Given the description of an element on the screen output the (x, y) to click on. 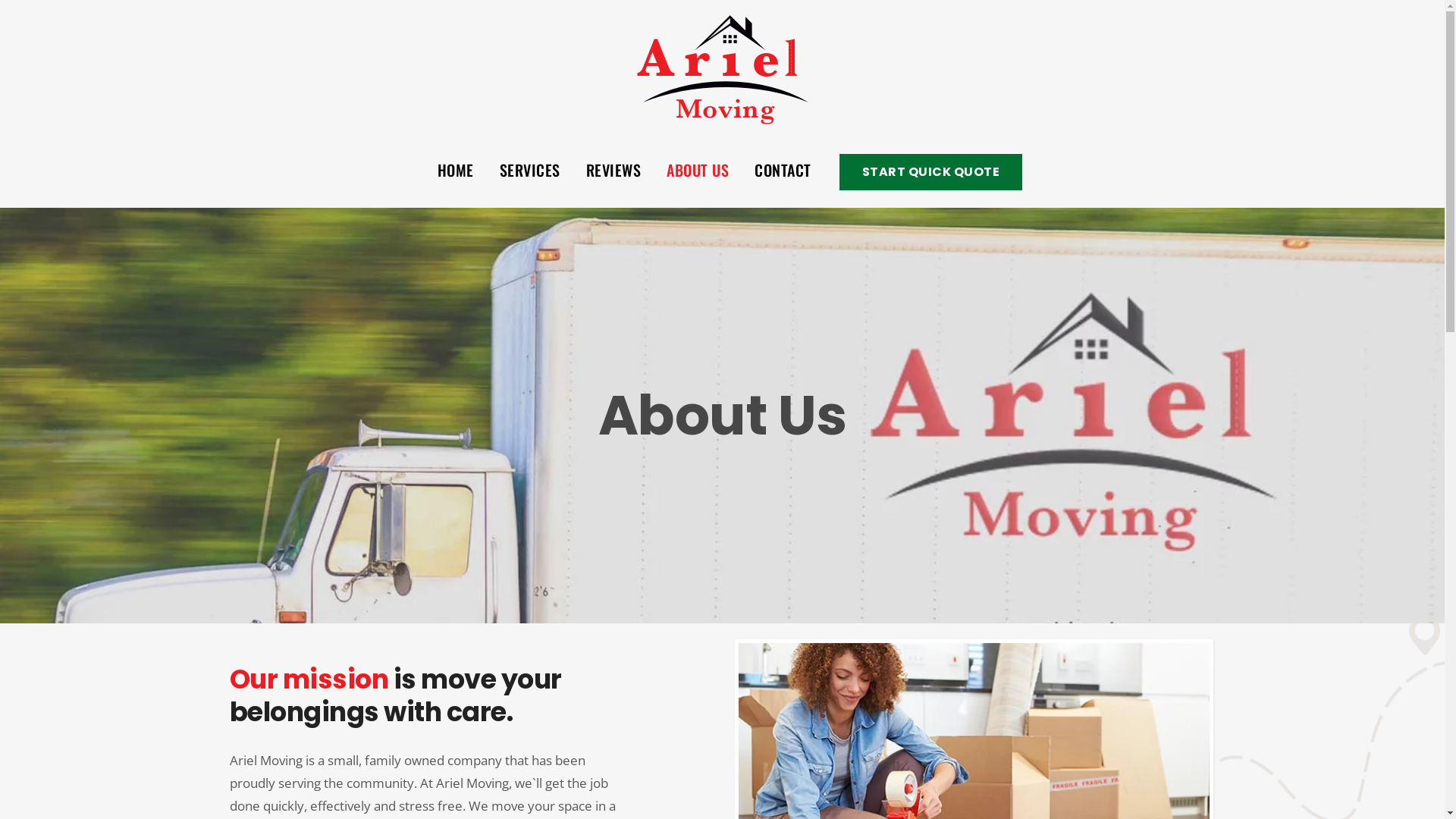
ABOUT US Element type: text (697, 169)
SERVICES Element type: text (529, 169)
START QUICK QUOTE Element type: text (930, 171)
CONTACT Element type: text (782, 169)
HOME Element type: text (455, 169)
REVIEWS Element type: text (613, 169)
